Given the description of an element on the screen output the (x, y) to click on. 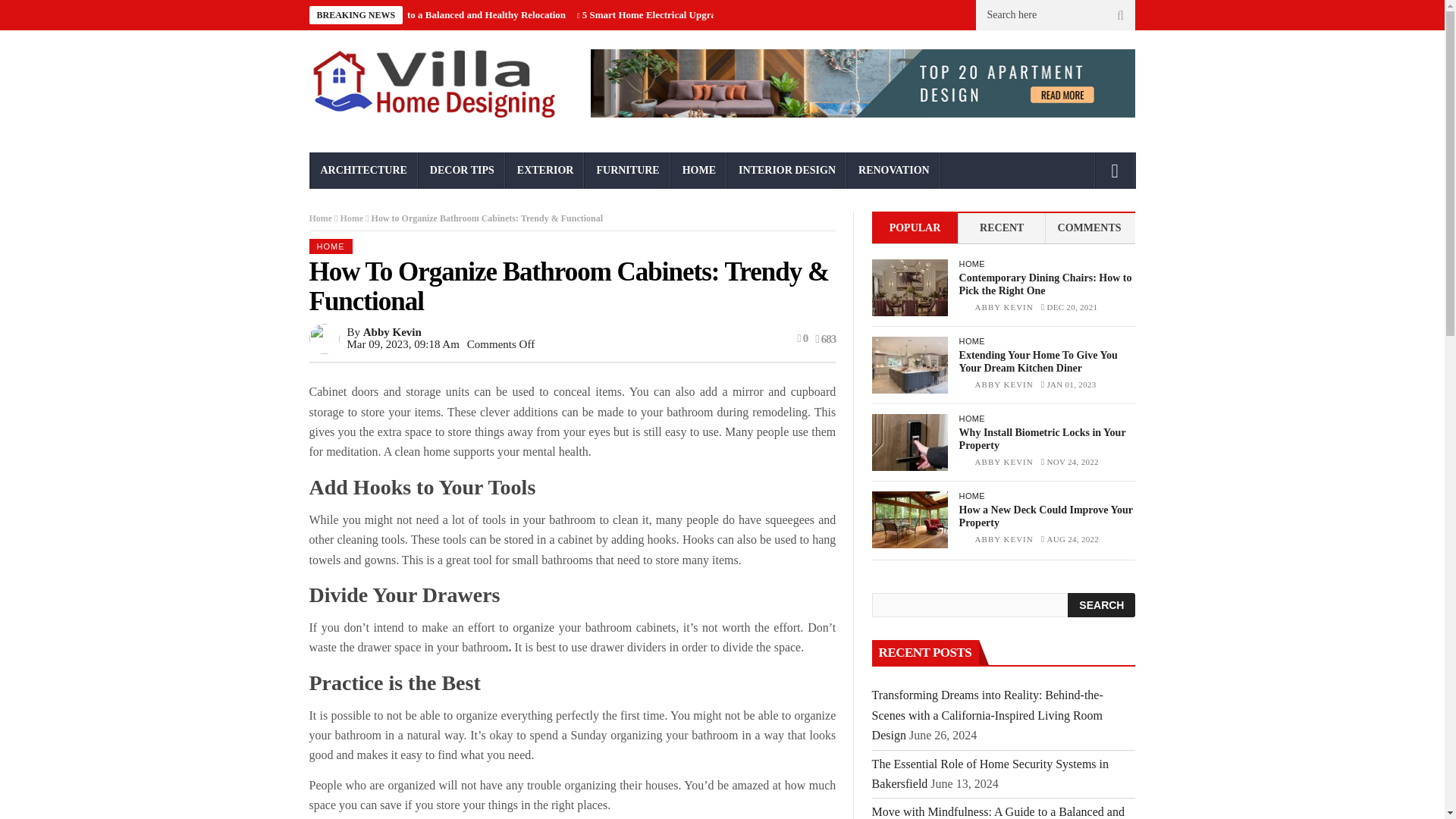
DECOR TIPS (462, 170)
ARCHITECTURE (363, 170)
HOME (698, 170)
Home (352, 217)
RENOVATION (893, 170)
0 (802, 337)
Search (1101, 604)
Contemporary Dining Chairs: How to Pick the Right One (909, 287)
EXTERIOR (545, 170)
5 Smart Home Electrical Upgrades for the Modern Home (703, 14)
HOME (330, 246)
Posts by Abby Kevin (1004, 307)
Home (320, 217)
INTERIOR DESIGN (786, 170)
